Given the description of an element on the screen output the (x, y) to click on. 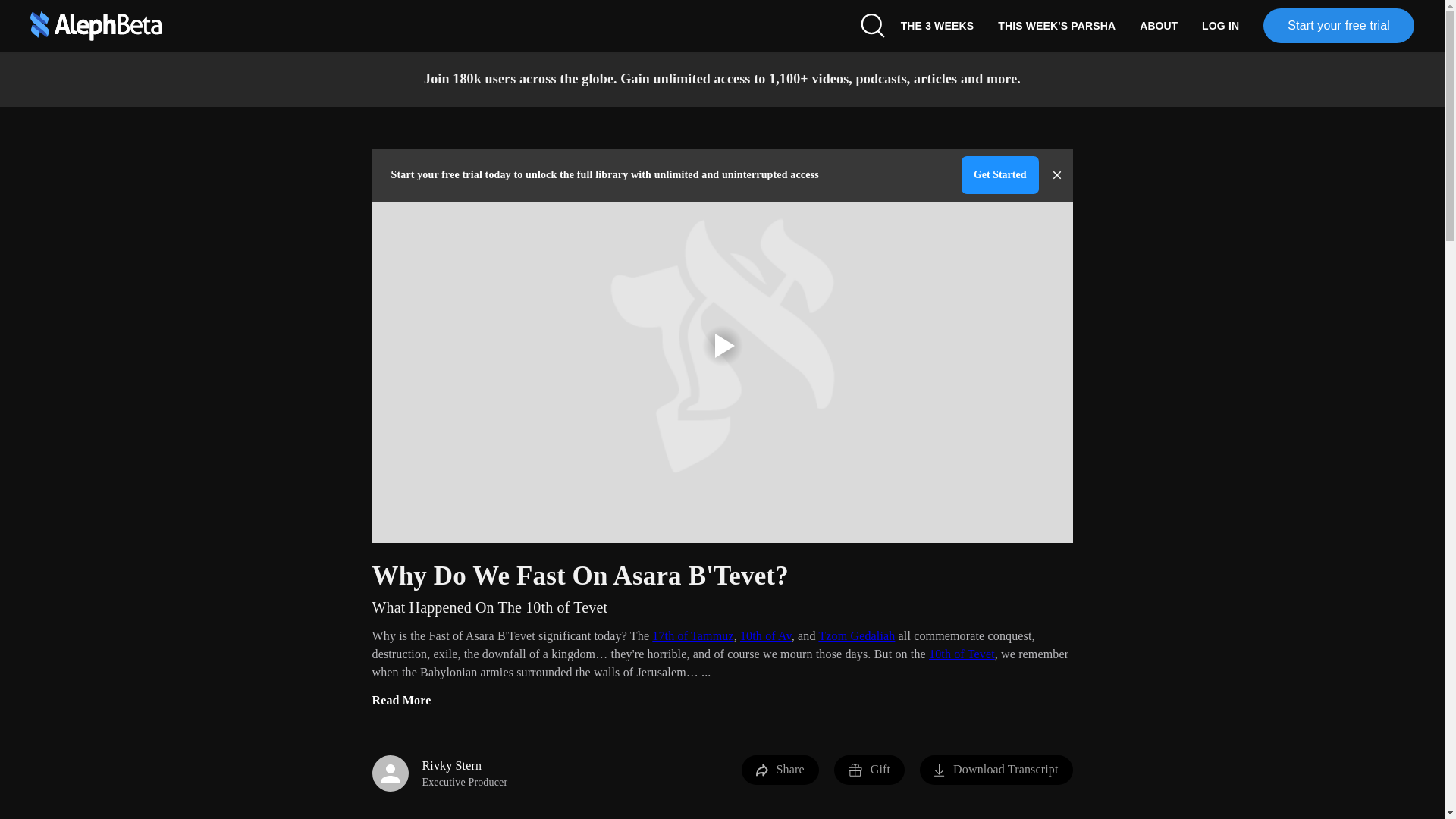
10th of Av (765, 635)
ABOUT (1157, 25)
Start your free trial (1338, 26)
THIS WEEK'S PARSHA (1055, 25)
Tzom Gedaliah (856, 635)
LOG IN (1219, 25)
THE 3 WEEKS (937, 25)
Get Started (999, 175)
17th of Tammuz (692, 635)
10th of Tevet (961, 653)
